Given the description of an element on the screen output the (x, y) to click on. 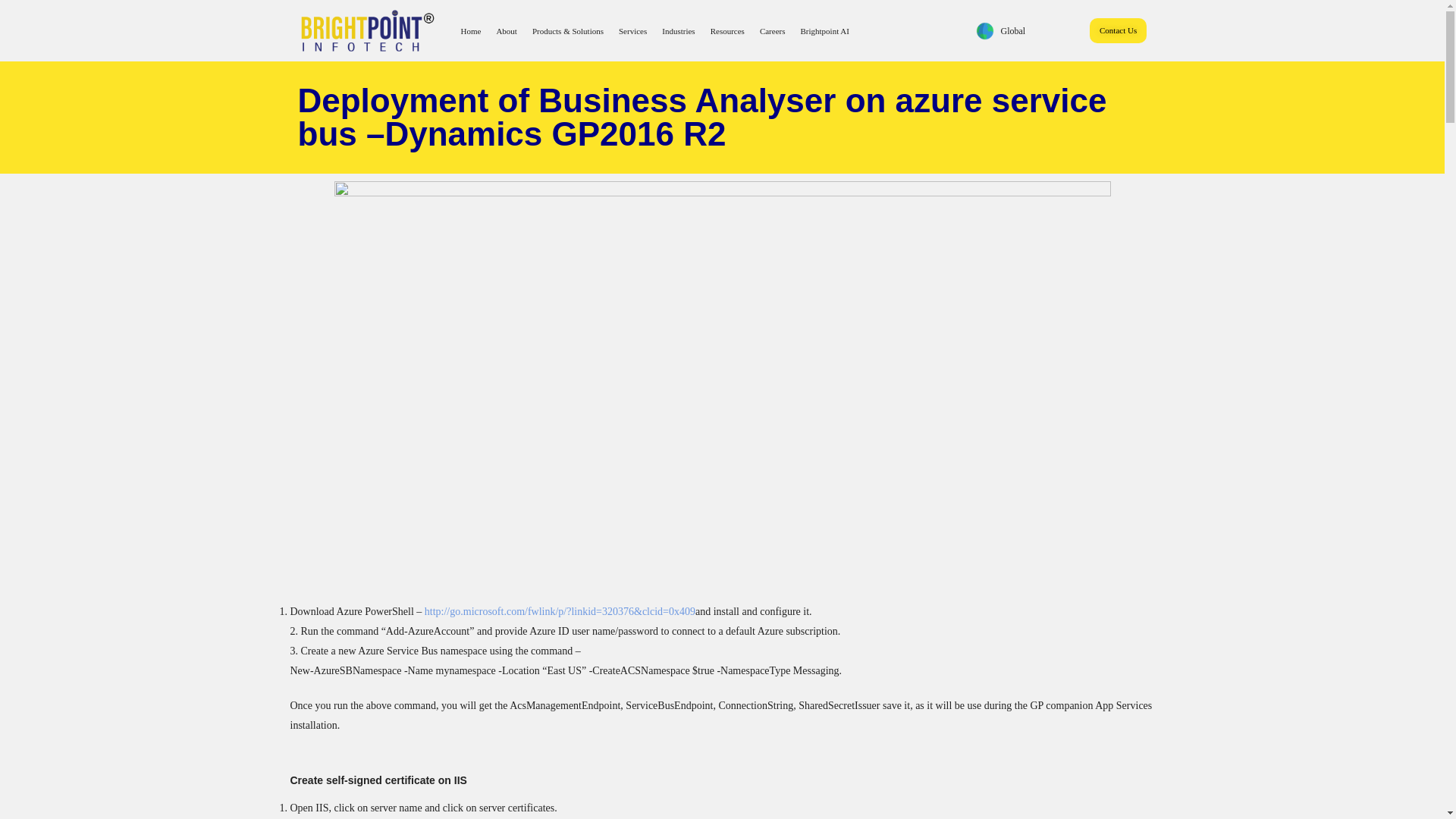
Services (632, 30)
Industries (677, 30)
About (505, 30)
Home (469, 30)
